Given the description of an element on the screen output the (x, y) to click on. 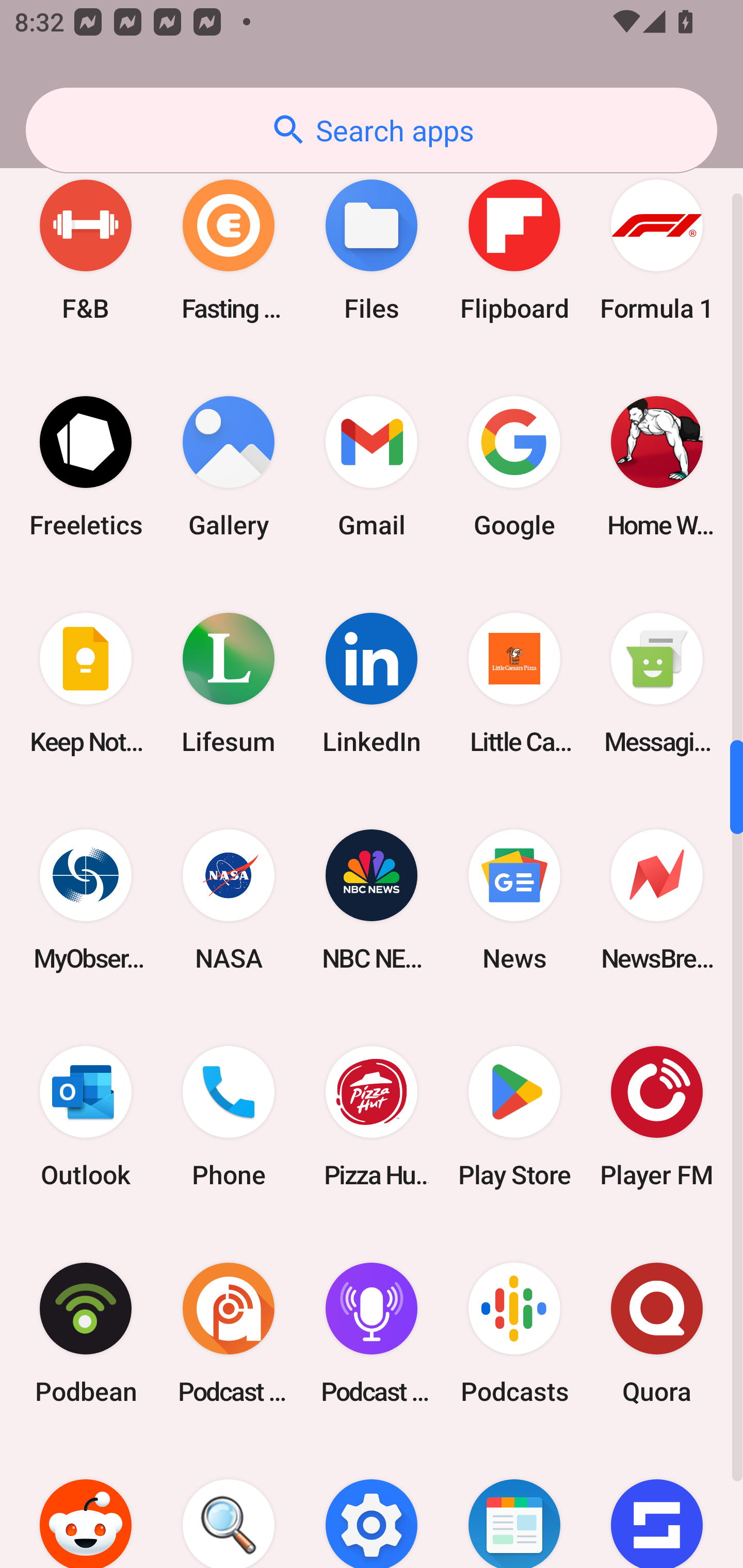
  Search apps (371, 130)
F&B (85, 250)
Fasting Coach (228, 250)
Files (371, 250)
Flipboard (514, 250)
Formula 1 (656, 250)
Freeletics (85, 467)
Gallery (228, 467)
Gmail (371, 467)
Google (514, 467)
Home Workout (656, 467)
Keep Notes (85, 683)
Lifesum (228, 683)
LinkedIn (371, 683)
Little Caesars Pizza (514, 683)
Messaging (656, 683)
MyObservatory (85, 899)
NASA (228, 899)
NBC NEWS (371, 899)
News (514, 899)
NewsBreak (656, 899)
Outlook (85, 1116)
Phone (228, 1116)
Pizza Hut HK & Macau (371, 1116)
Play Store (514, 1116)
Player FM (656, 1116)
Podbean (85, 1332)
Podcast Addict (228, 1332)
Podcast Player (371, 1332)
Podcasts (514, 1332)
Quora (656, 1332)
Reddit (85, 1504)
Search (228, 1504)
Settings (371, 1504)
SmartNews (514, 1504)
Sofascore (656, 1504)
